Given the description of an element on the screen output the (x, y) to click on. 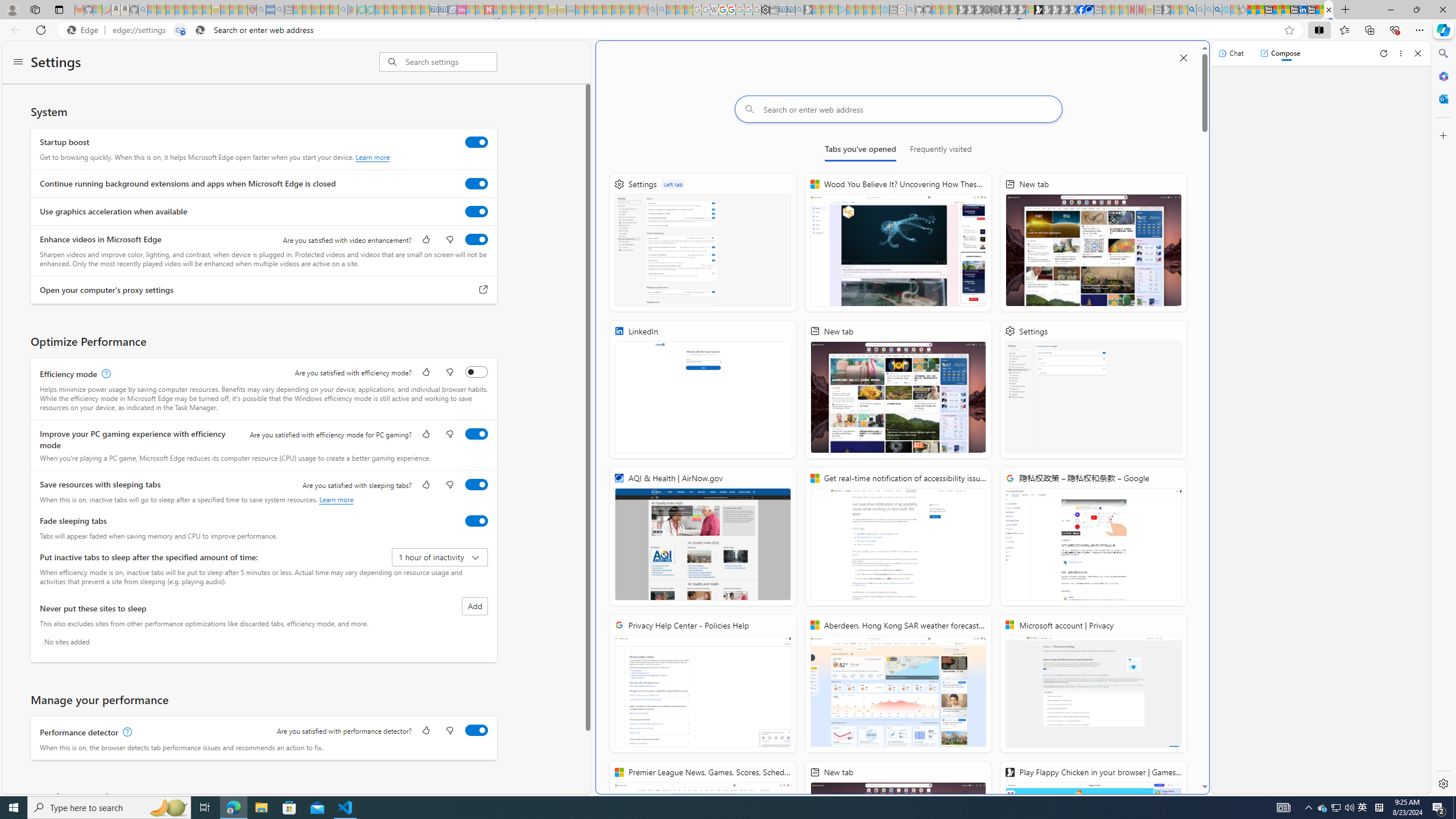
Startup boost (476, 142)
